Given the description of an element on the screen output the (x, y) to click on. 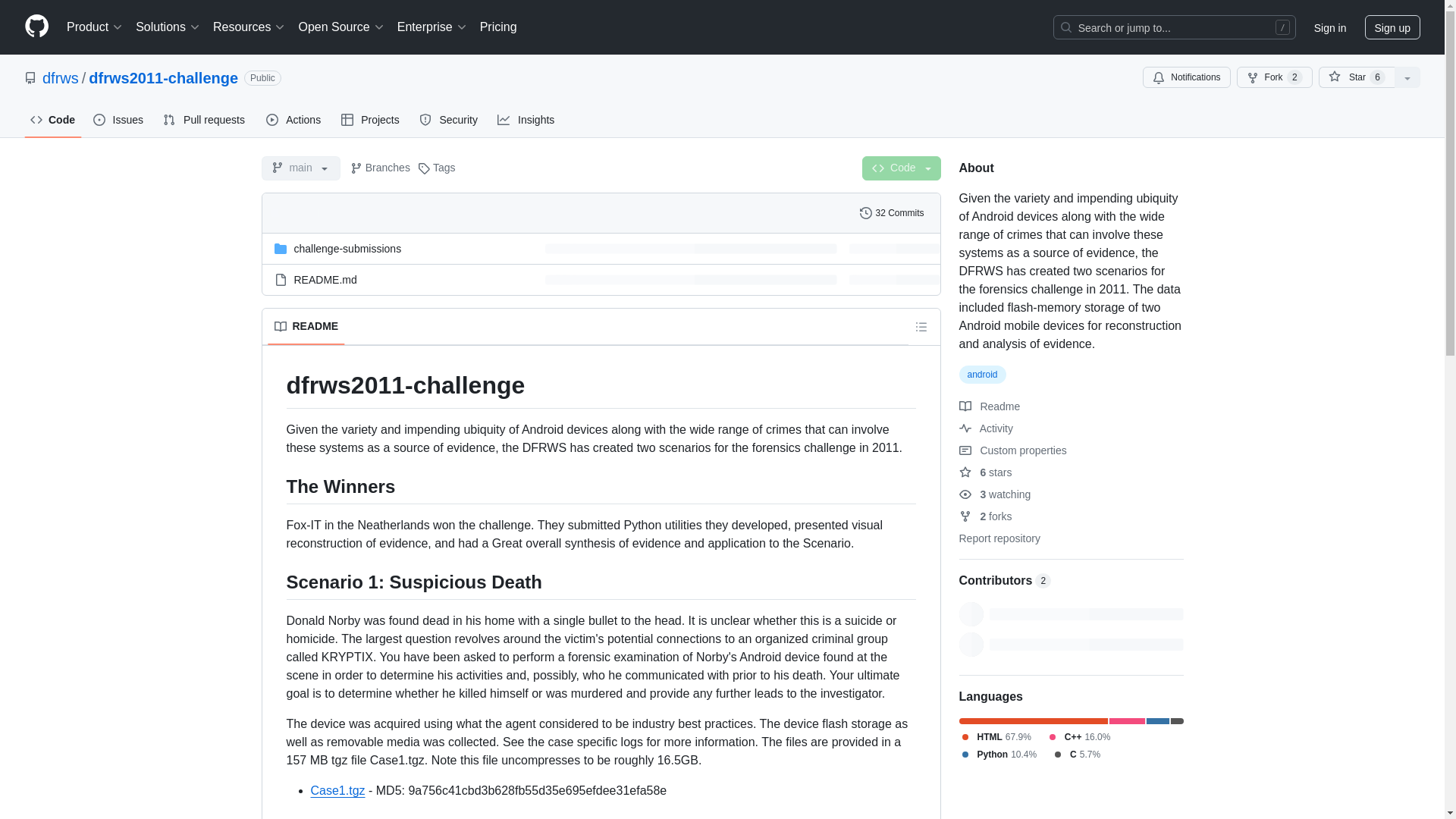
Resources (249, 27)
Open Source (341, 27)
6 (1378, 77)
Topic: android (982, 374)
challenge-submissions (347, 248)
Product (95, 27)
README.md (325, 278)
2 (1295, 77)
Solutions (167, 27)
2 (1043, 580)
